Given the description of an element on the screen output the (x, y) to click on. 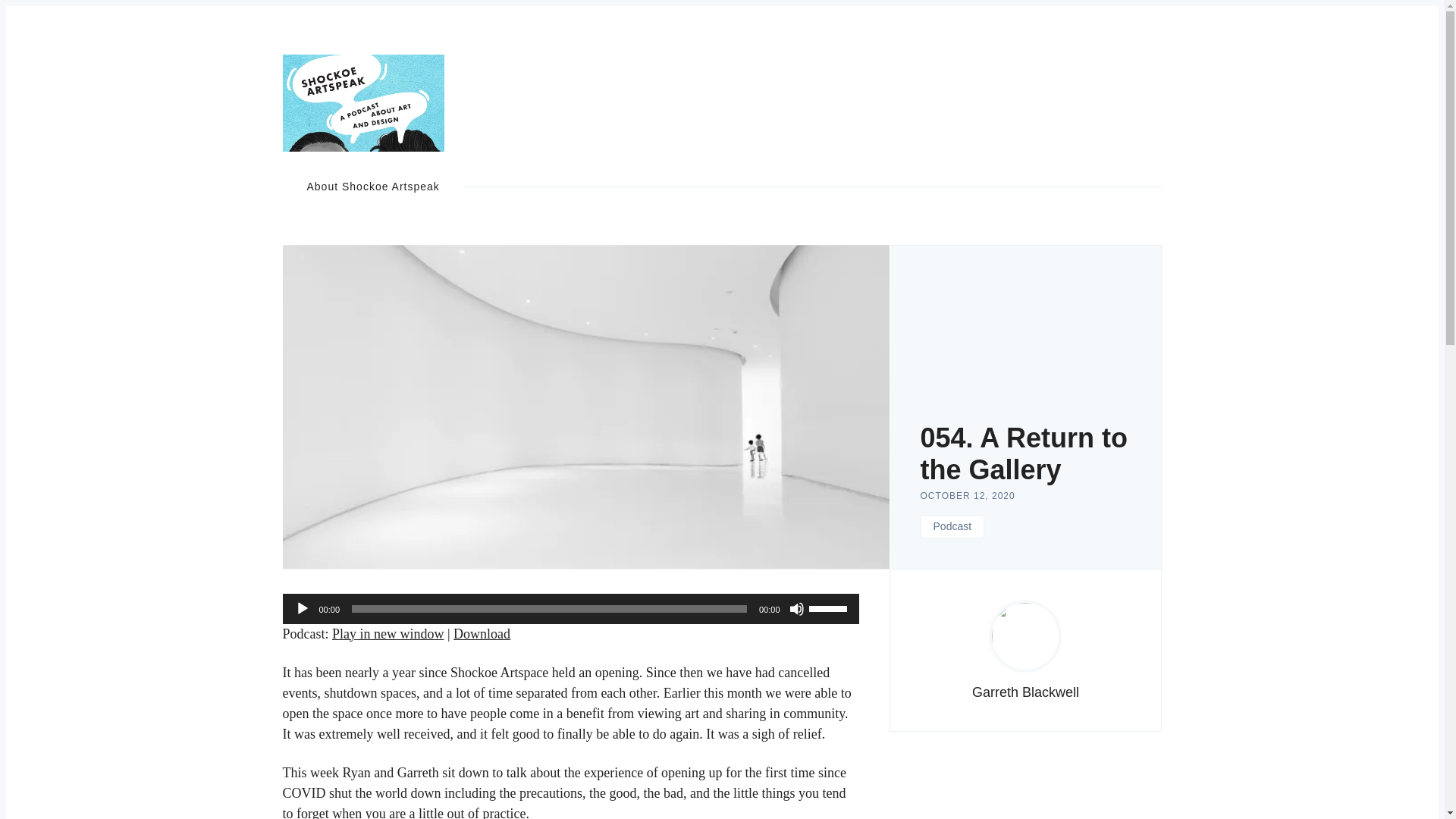
Download (481, 633)
Download (481, 633)
Play in new window (387, 633)
Podcast (952, 525)
Play in new window (387, 633)
Play (301, 607)
Mute (796, 607)
About Shockoe Artspeak (372, 186)
Garreth Blackwell (1025, 691)
